Given the description of an element on the screen output the (x, y) to click on. 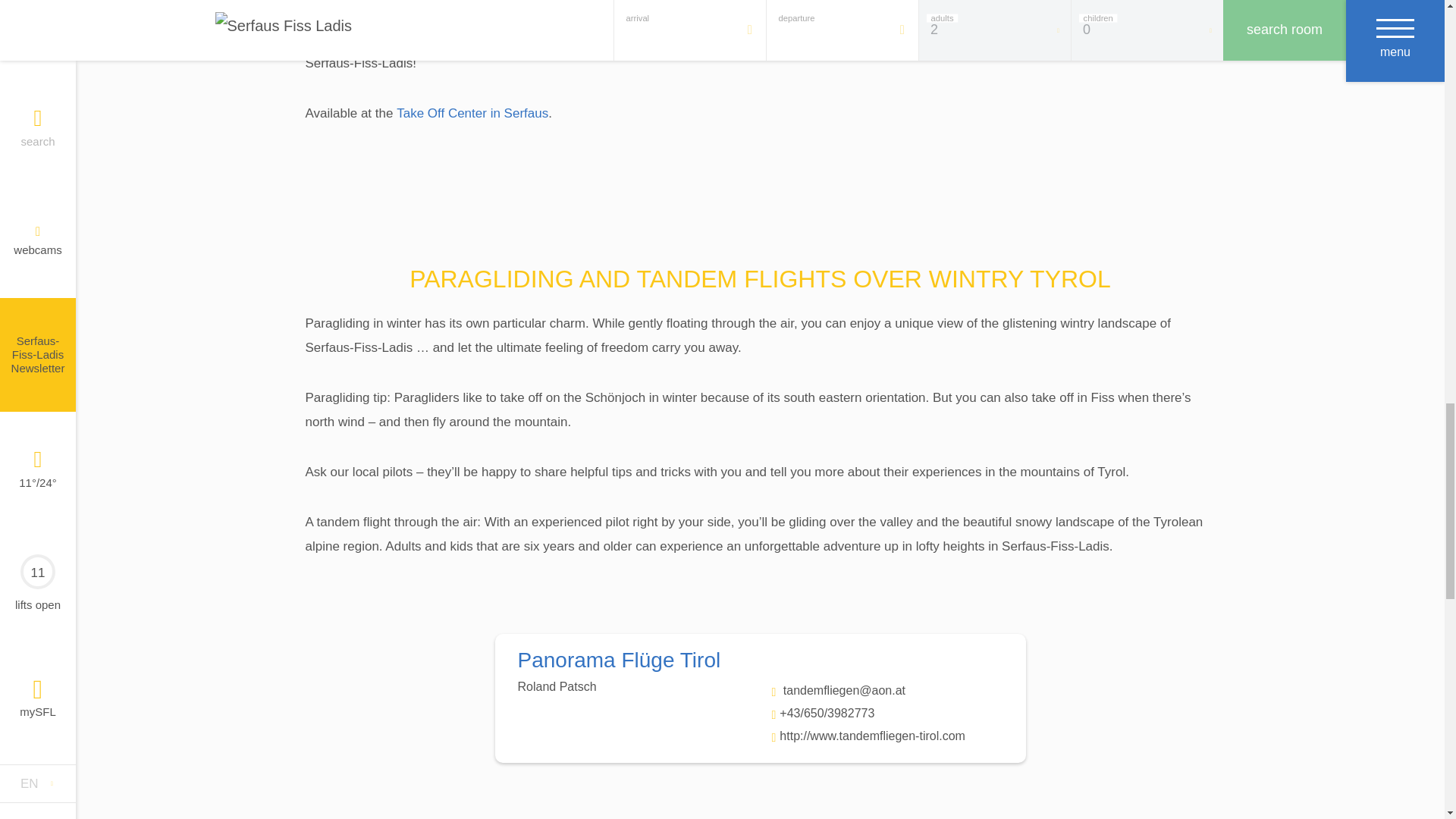
Take Off Center in Serfaus (472, 113)
